Given the description of an element on the screen output the (x, y) to click on. 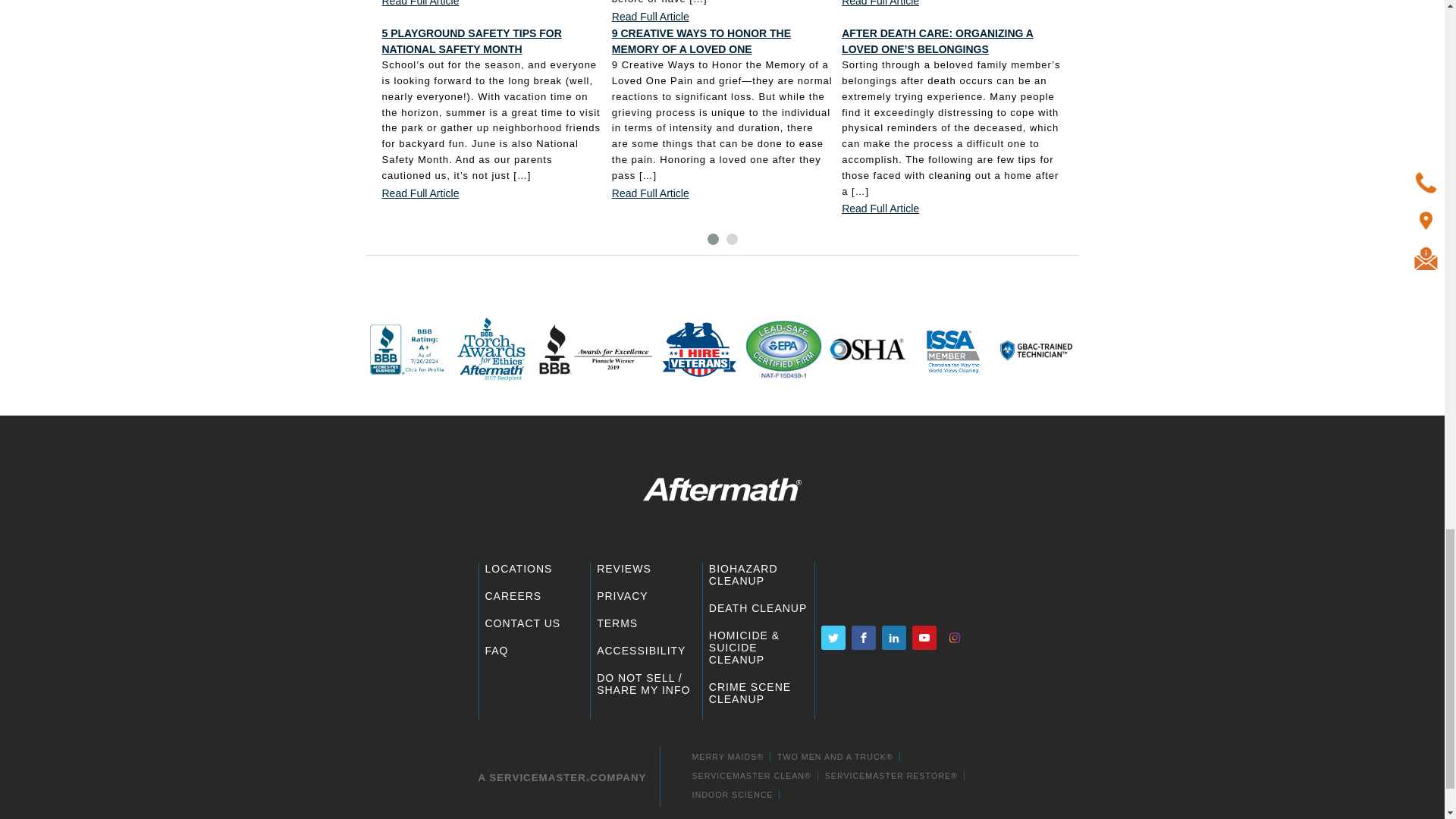
Aftermath Services BBB Business Review (595, 349)
